Given the description of an element on the screen output the (x, y) to click on. 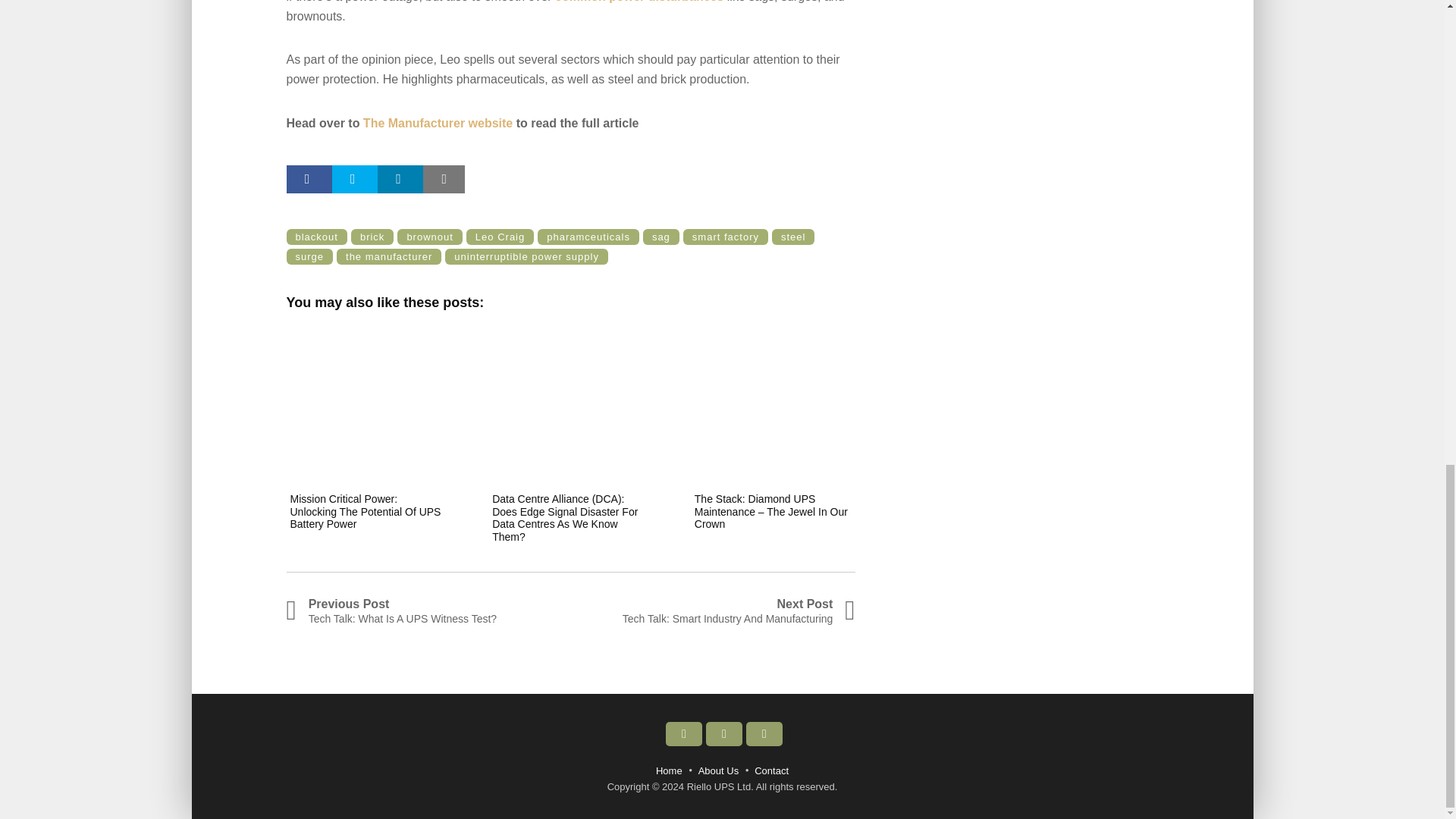
the manufacturer (388, 256)
Leo Craig (499, 236)
uninterruptible power supply (526, 256)
The Manufacturer website (437, 123)
steel (792, 236)
sag (661, 236)
surge (309, 256)
pharamceuticals (588, 236)
brownout (429, 236)
common power disturbances (638, 1)
brick (371, 236)
blackout (316, 236)
smart factory (725, 236)
